Given the description of an element on the screen output the (x, y) to click on. 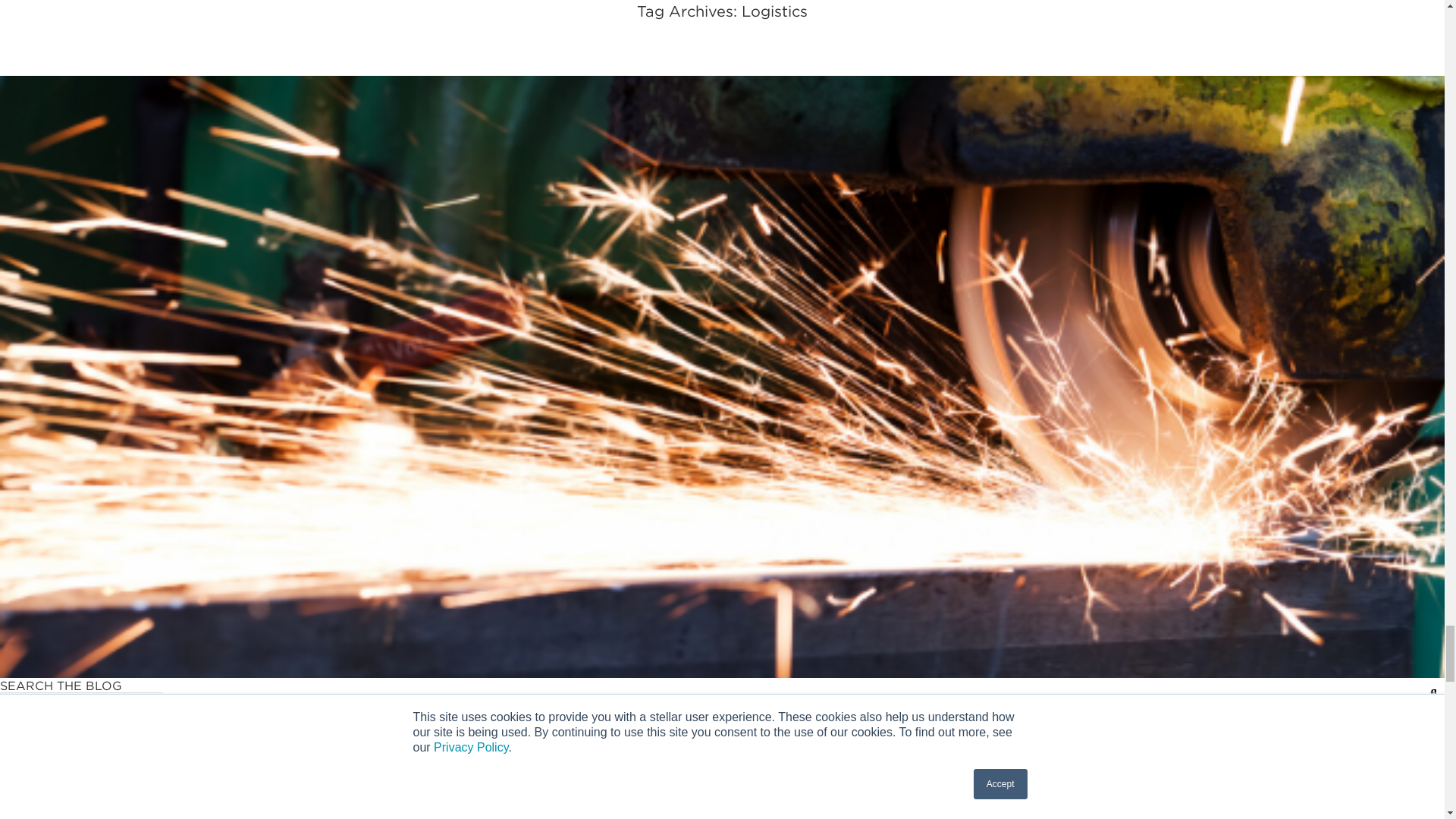
search (191, 701)
